Given the description of an element on the screen output the (x, y) to click on. 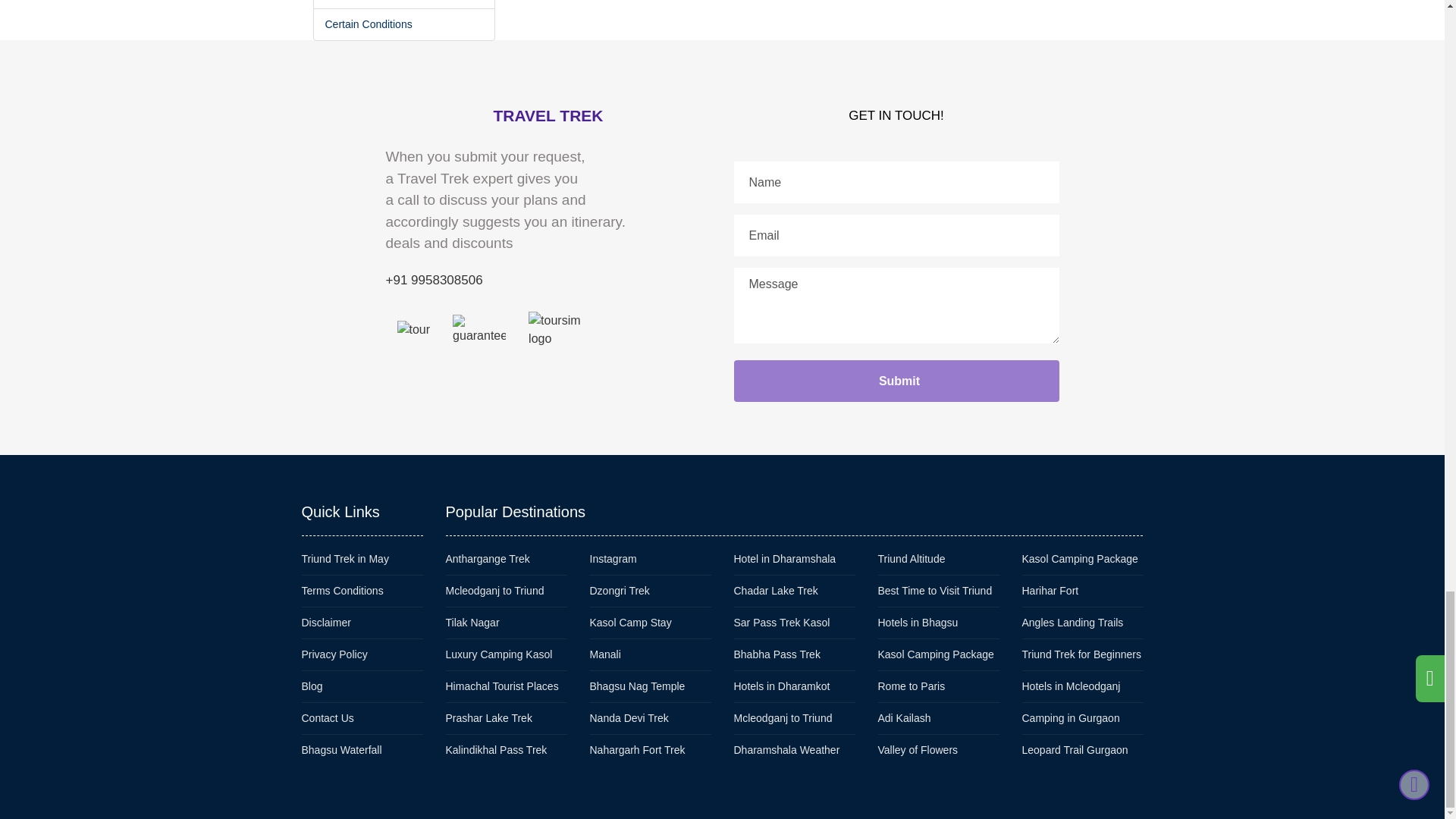
Submit (896, 381)
Email (896, 235)
Name (896, 182)
